Given the description of an element on the screen output the (x, y) to click on. 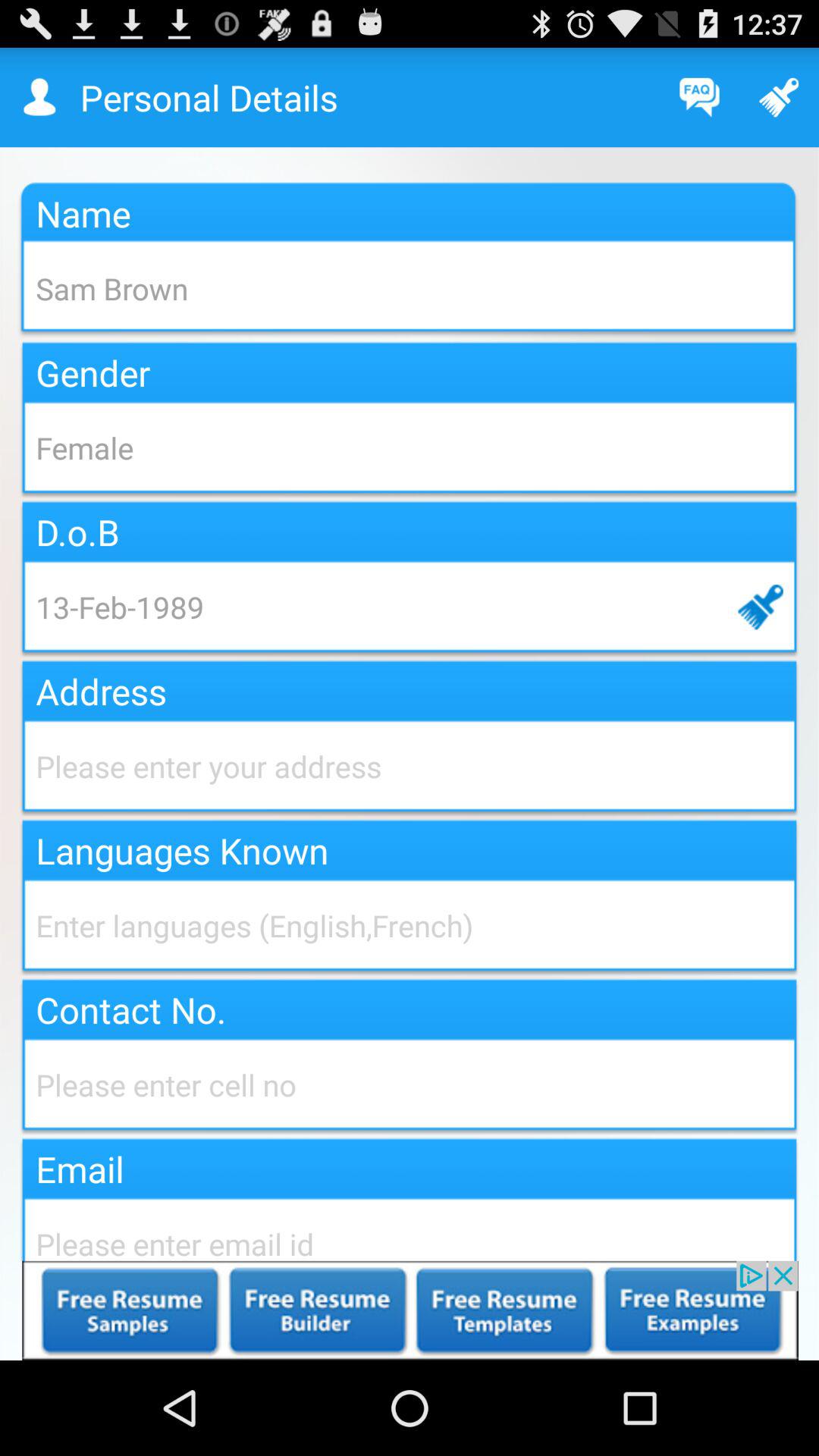
frequently asked question (699, 97)
